Given the description of an element on the screen output the (x, y) to click on. 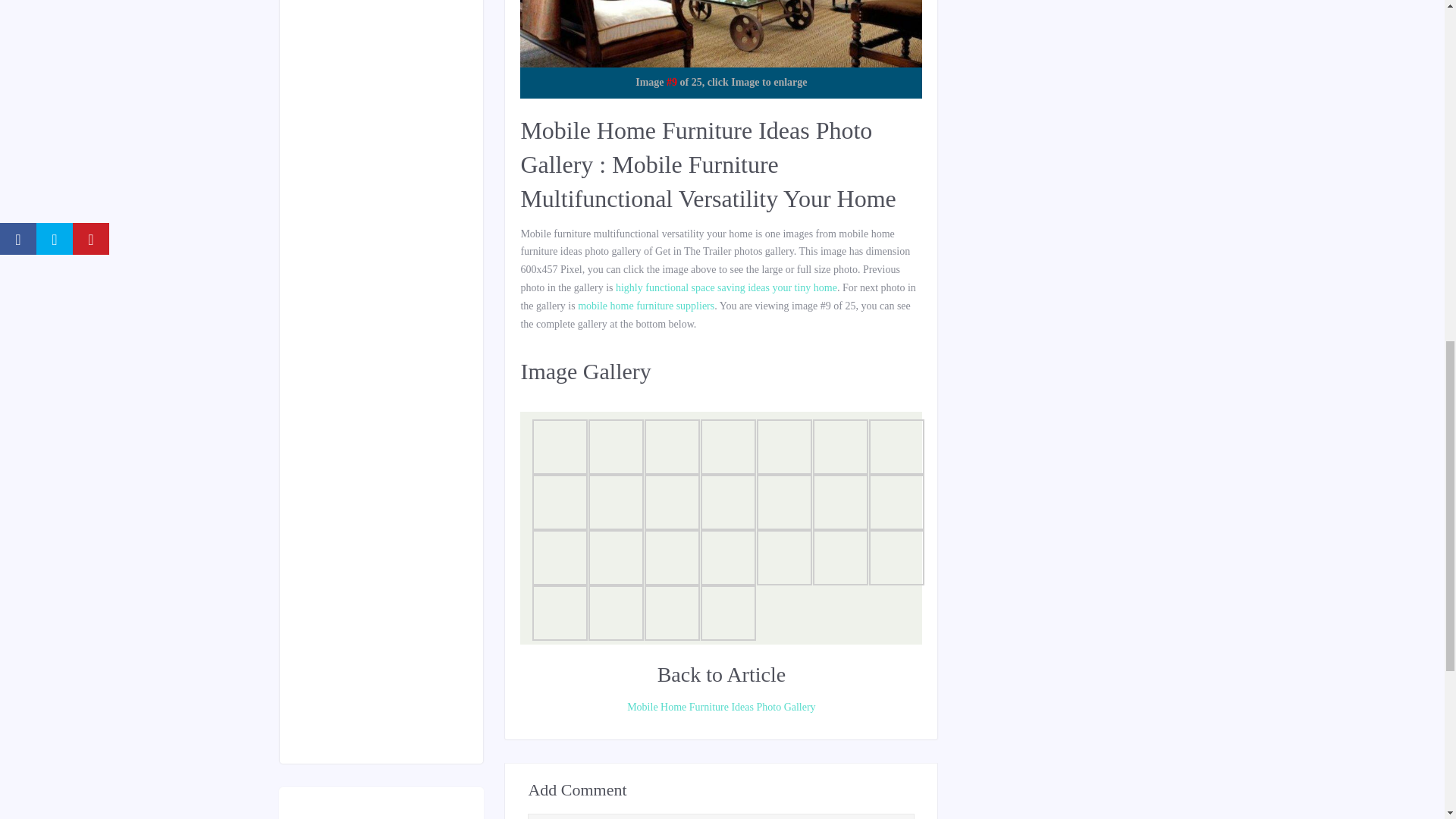
highly functional space saving ideas your tiny home (726, 287)
mobile home furniture suppliers (646, 306)
Mobile Home Furniture Ideas Photo Gallery (720, 707)
